Given the description of an element on the screen output the (x, y) to click on. 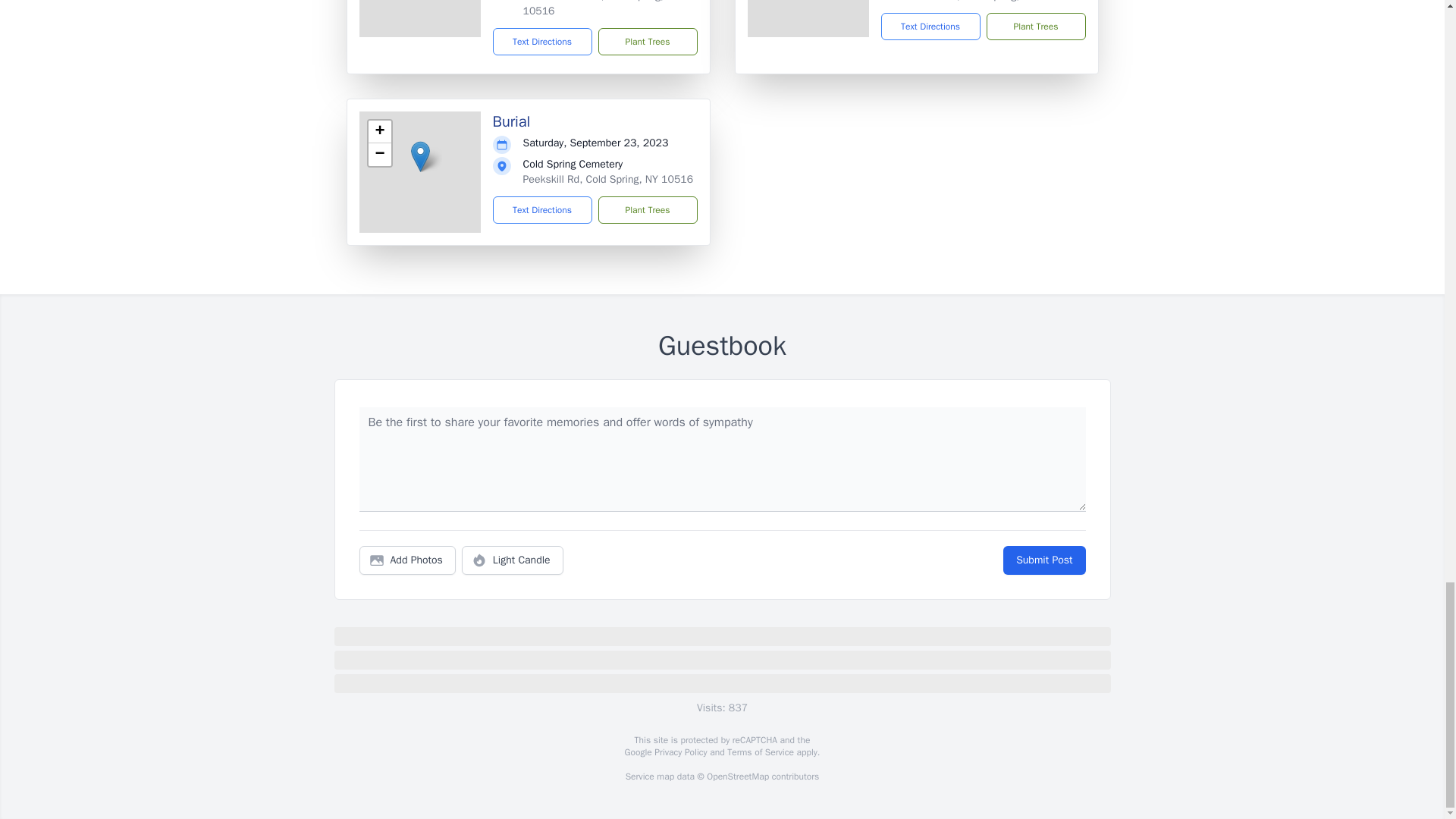
Plant Trees (646, 209)
Text Directions (929, 26)
21 Parrott Street, Cold Spring, NY 10516 (600, 8)
24 Fair St, Cold Spring, NY 10516 (990, 1)
Text Directions (542, 209)
Zoom out (379, 154)
Plant Trees (646, 41)
Text Directions (542, 41)
Zoom in (379, 131)
Peekskill Rd, Cold Spring, NY 10516 (608, 178)
Plant Trees (1034, 26)
